Given the description of an element on the screen output the (x, y) to click on. 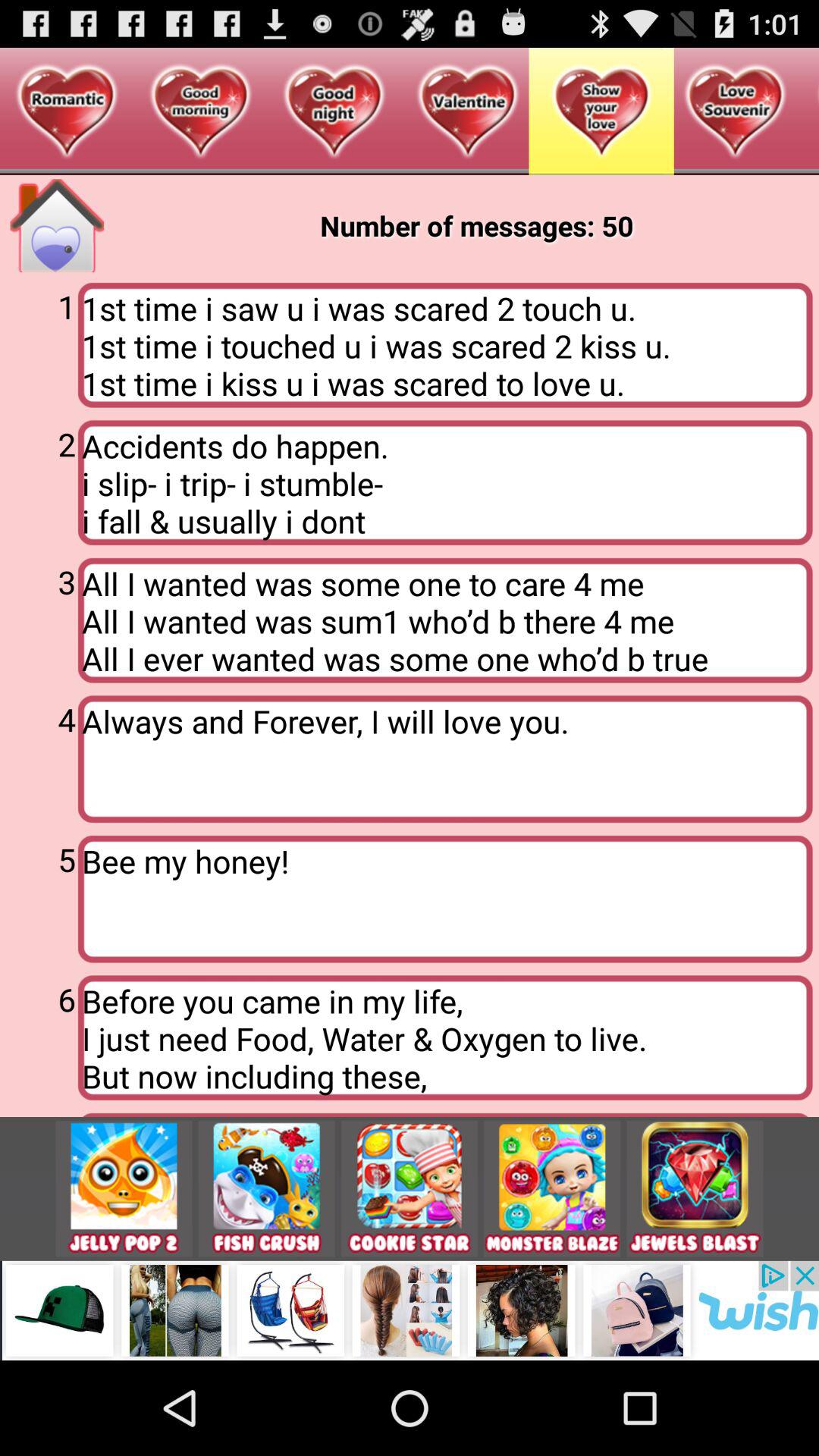
swtich autoplay option (409, 1188)
